Given the description of an element on the screen output the (x, y) to click on. 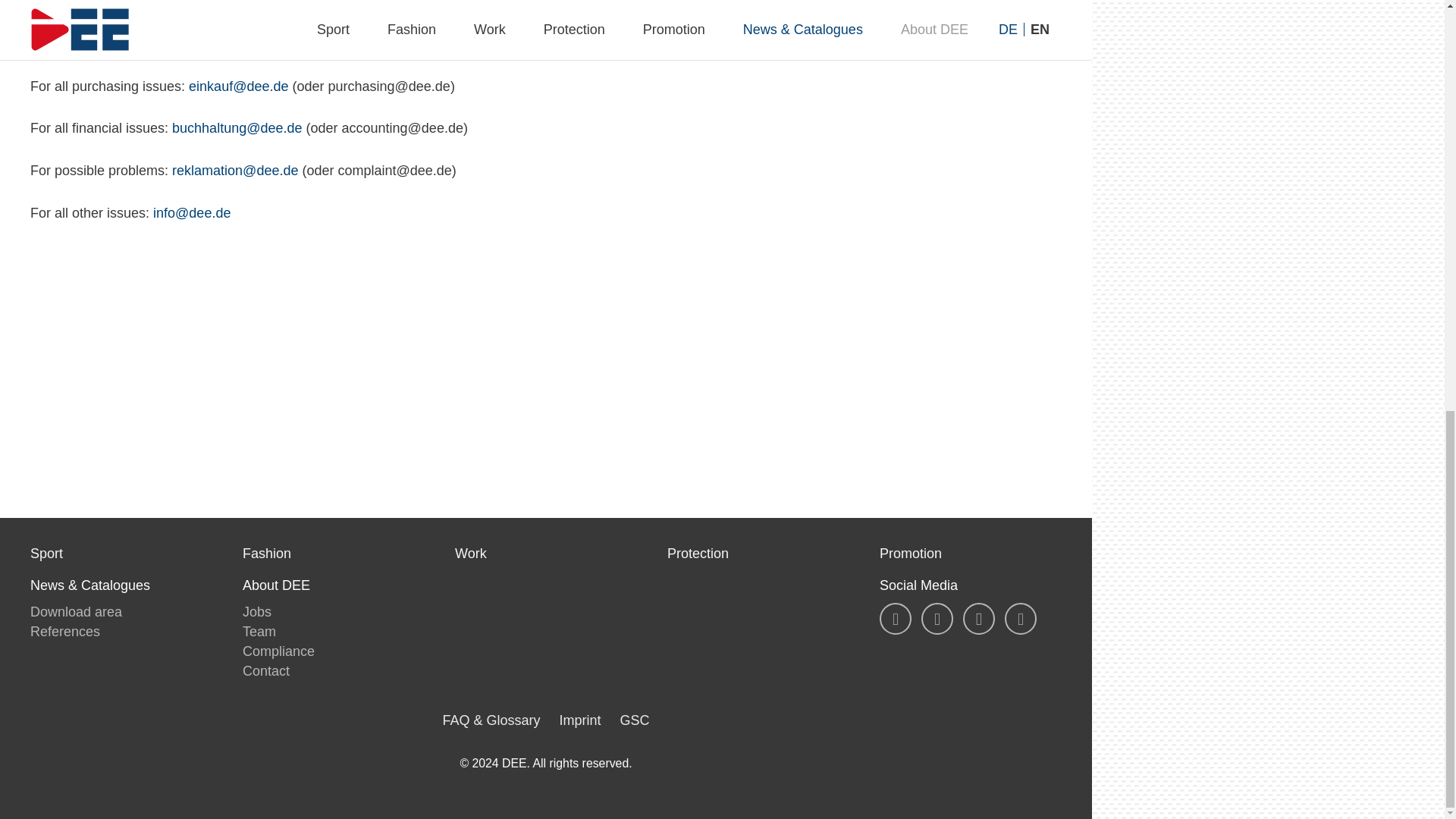
Opens internal link in current window (238, 86)
Fashion (334, 554)
Protection (757, 554)
References (65, 631)
Download area (76, 611)
Work (545, 554)
Opens internal link in current window (191, 212)
Opens internal link in current window (582, 23)
Opens internal link in current window (236, 127)
Promotion (970, 554)
